Given the description of an element on the screen output the (x, y) to click on. 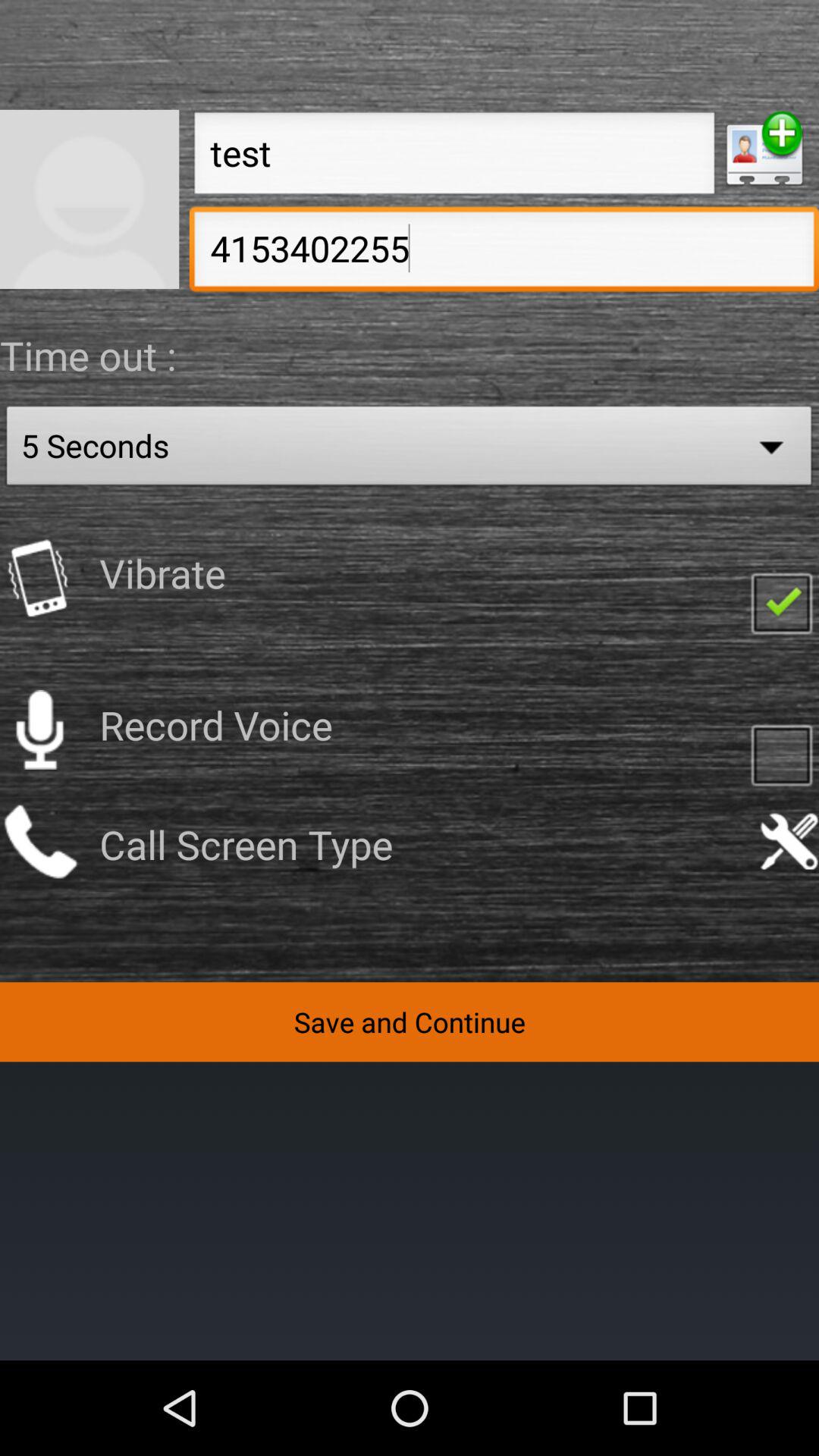
make call (39, 841)
